Given the description of an element on the screen output the (x, y) to click on. 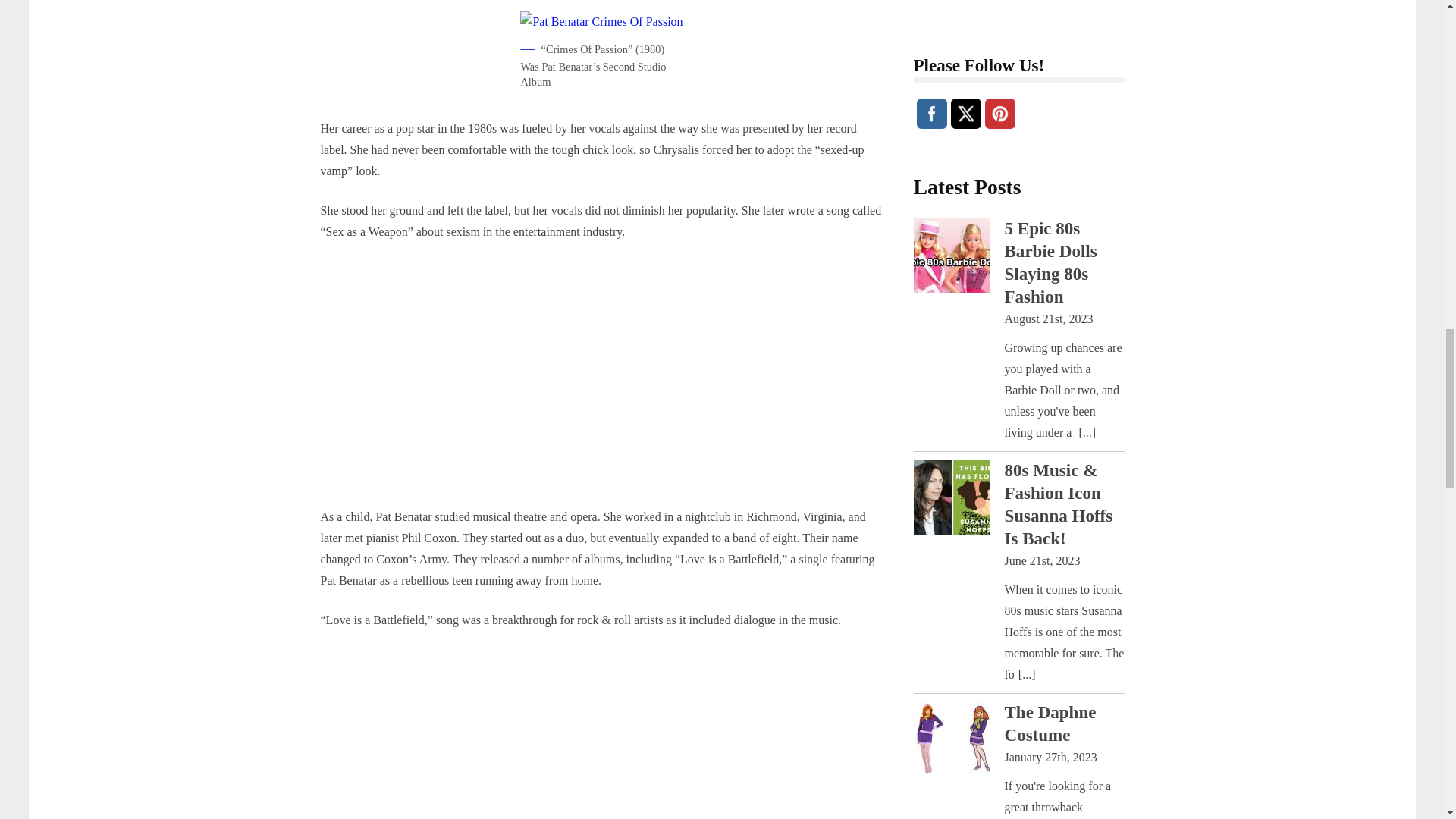
YouTube video player (532, 380)
YouTube video player (532, 734)
